Given the description of an element on the screen output the (x, y) to click on. 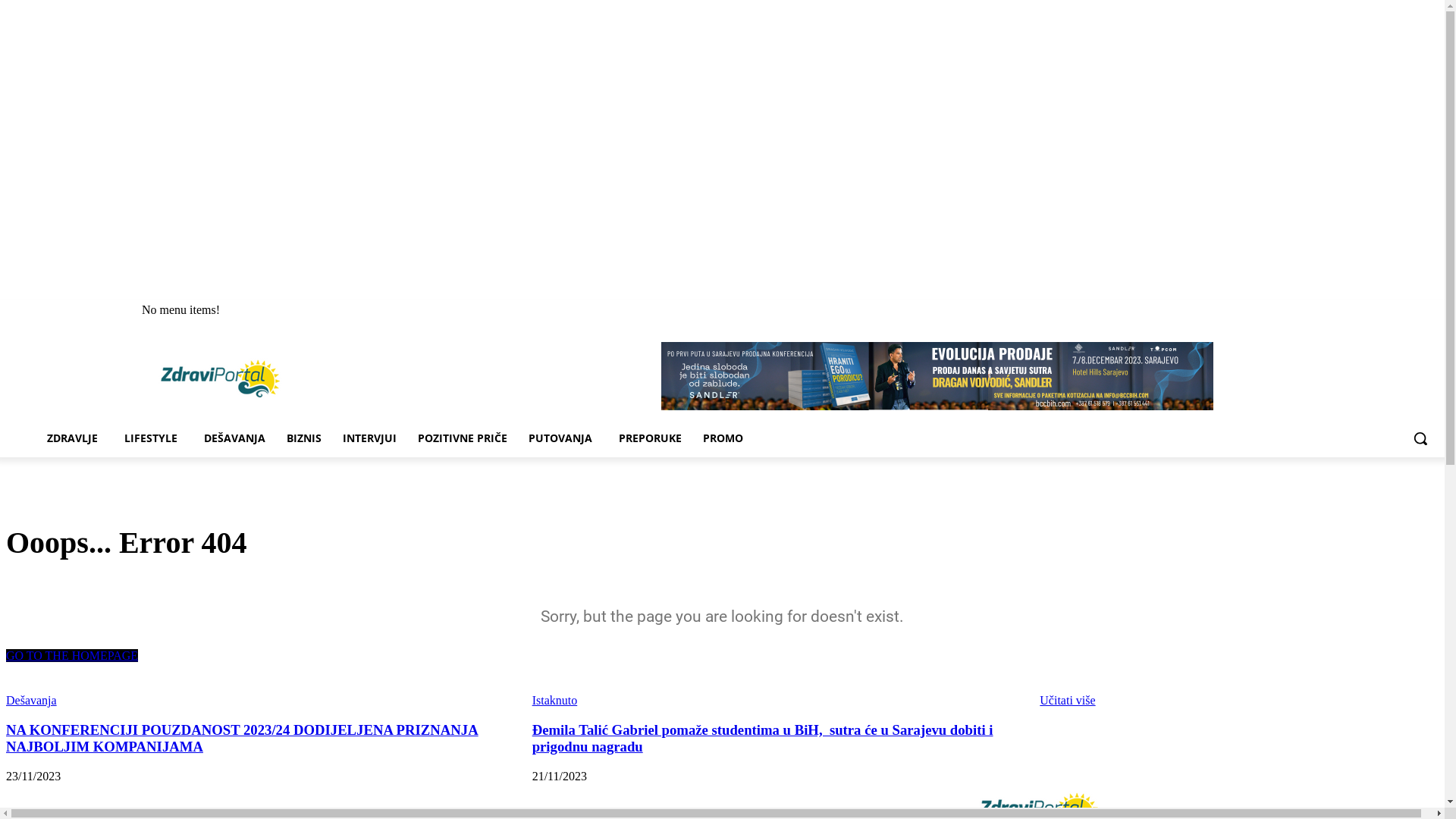
GO TO THE HOMEPAGE Element type: text (72, 655)
Facebook Element type: hover (1408, 310)
BIZNIS Element type: text (304, 438)
Instagram Element type: hover (1429, 310)
Istaknuto Element type: text (554, 700)
LIFESTYLE Element type: text (153, 438)
PROMO Element type: text (722, 438)
PREPORUKE Element type: text (650, 438)
PUTOVANJA Element type: text (562, 438)
ZDRAVLJE Element type: text (74, 438)
INTERVJUI Element type: text (369, 438)
